Given the description of an element on the screen output the (x, y) to click on. 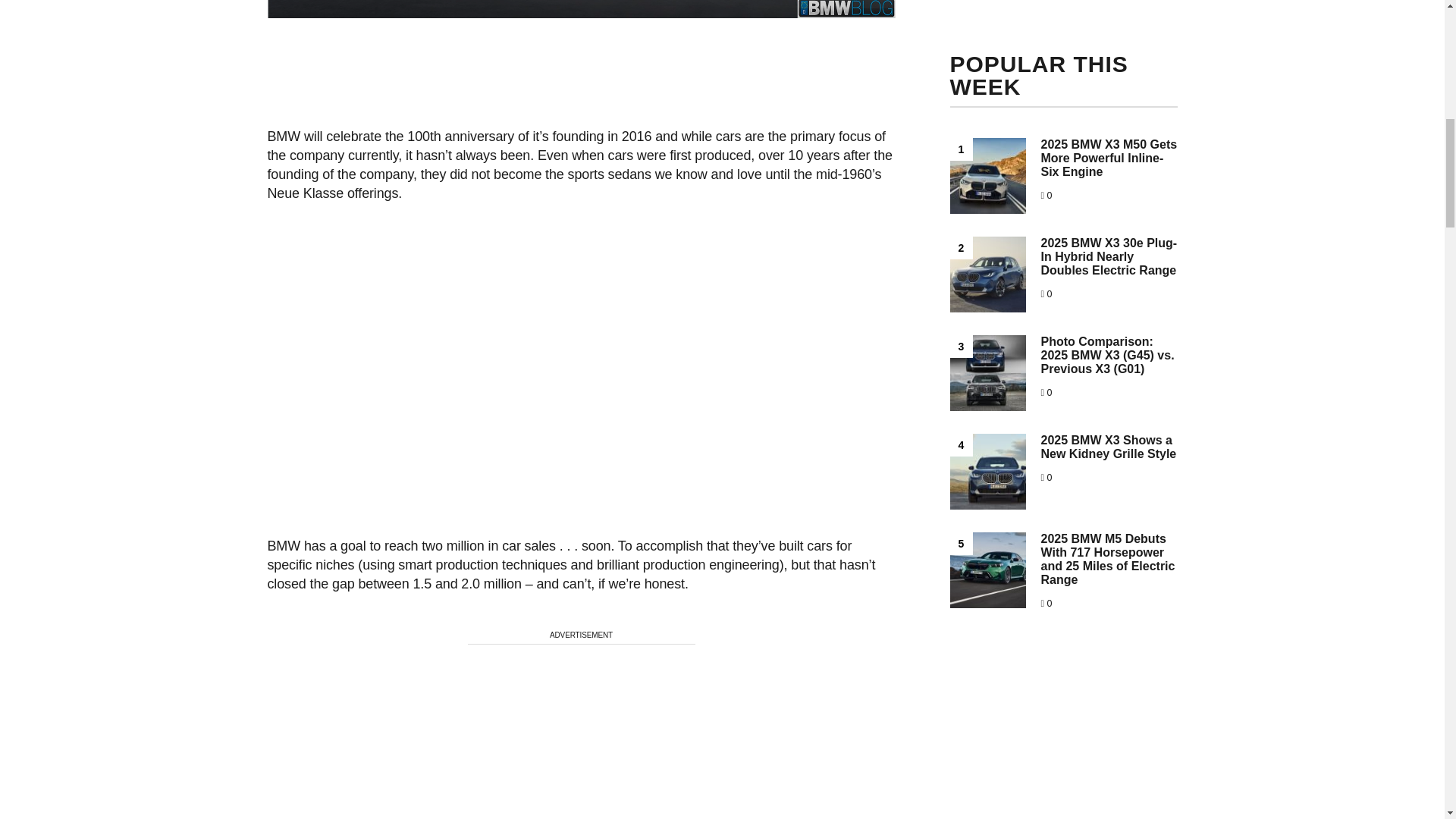
2025 BMW X3 M50 Gets More Powerful Inline-Six Engine (1108, 158)
2025 BMW X3 30e Plug-In Hybrid Nearly Doubles Electric Range (1108, 256)
